Given the description of an element on the screen output the (x, y) to click on. 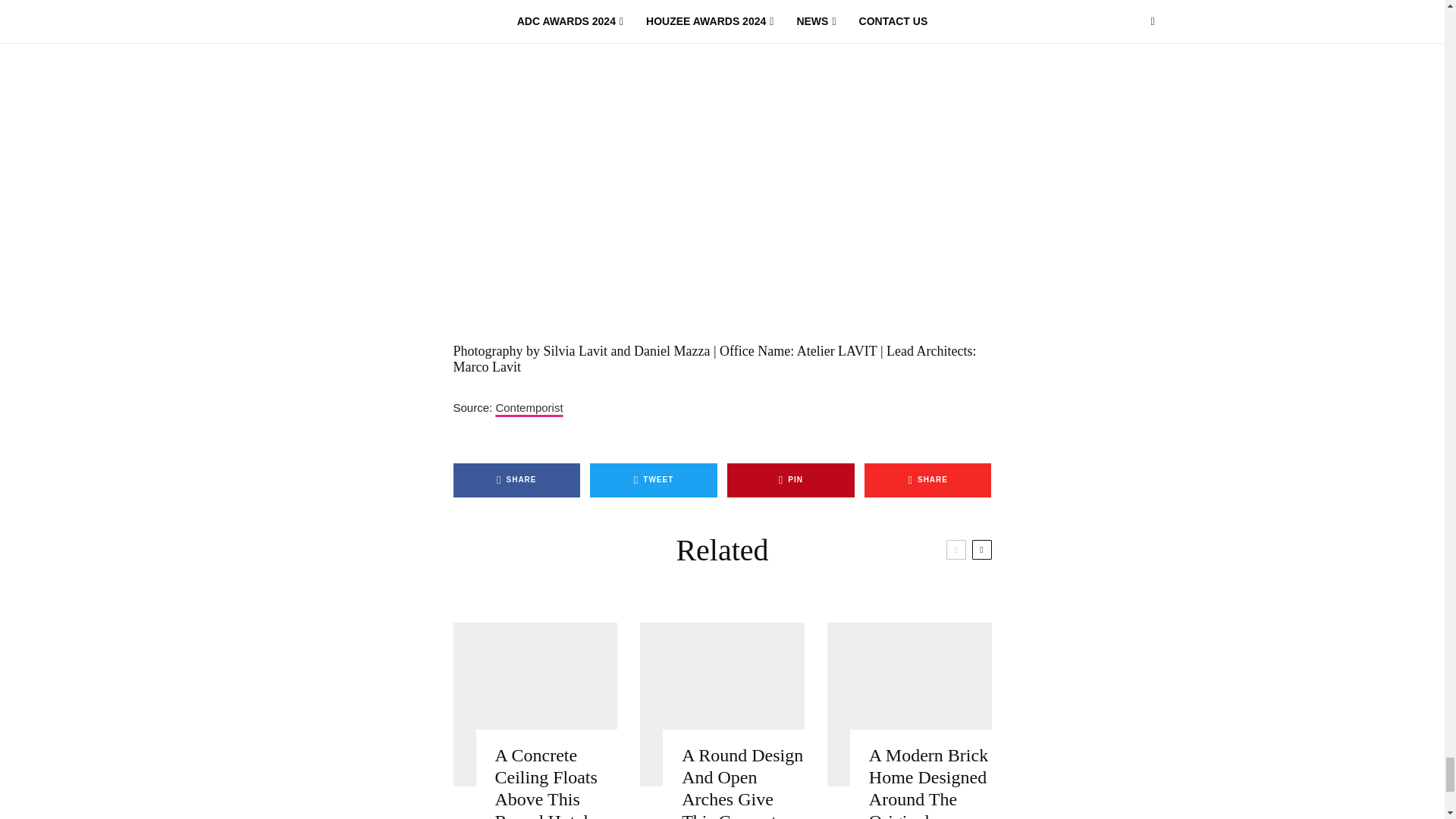
SHARE (516, 480)
Contemporist (528, 407)
